Given the description of an element on the screen output the (x, y) to click on. 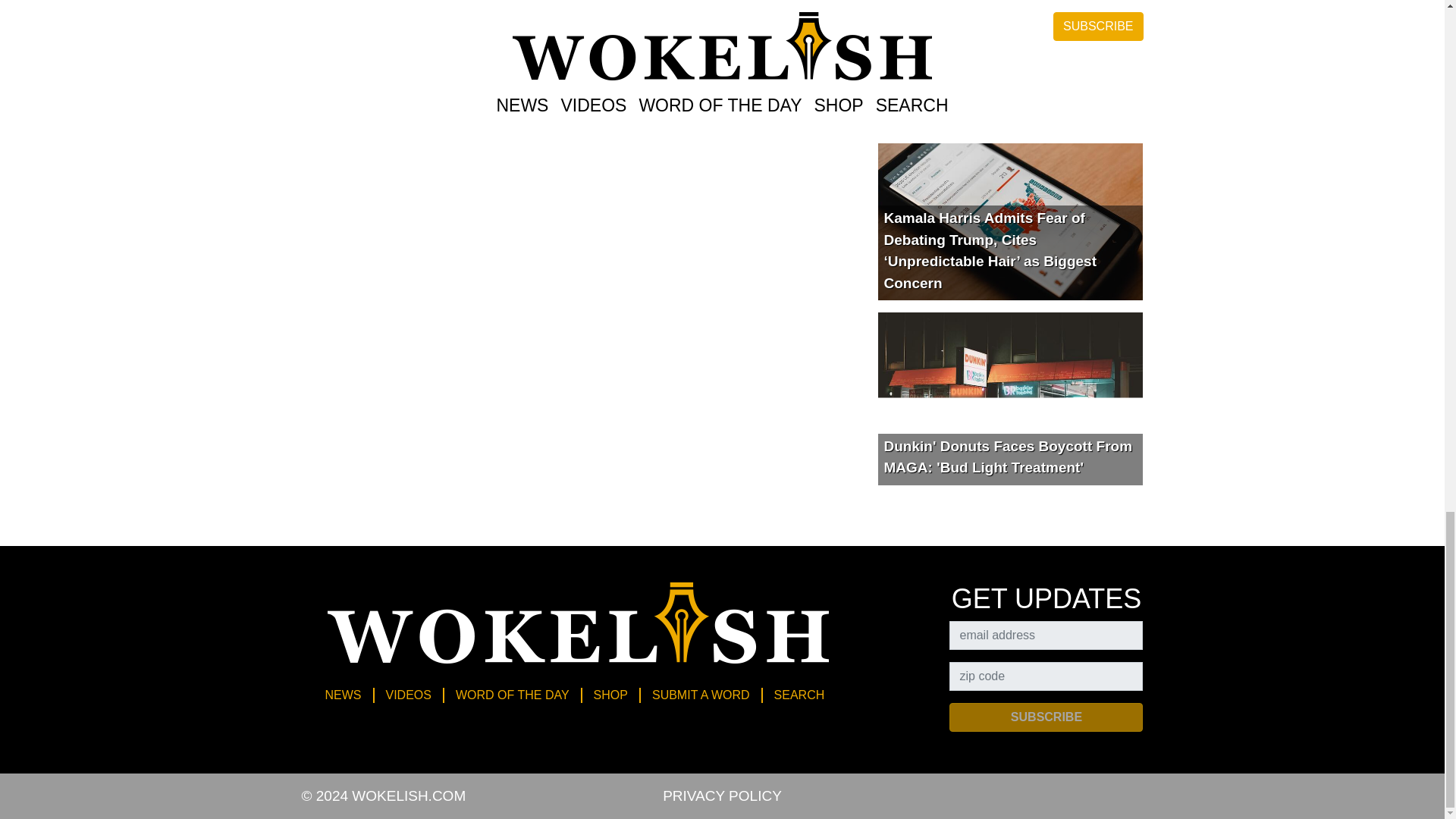
Unsplash unsplash.com (695, 75)
NEWS (342, 694)
SHOP (610, 694)
blue and white dolphin illustration (386, 75)
WORD OF THE DAY (512, 694)
SUBMIT A WORD (700, 694)
VIDEOS (407, 694)
SEARCH (799, 694)
